Given the description of an element on the screen output the (x, y) to click on. 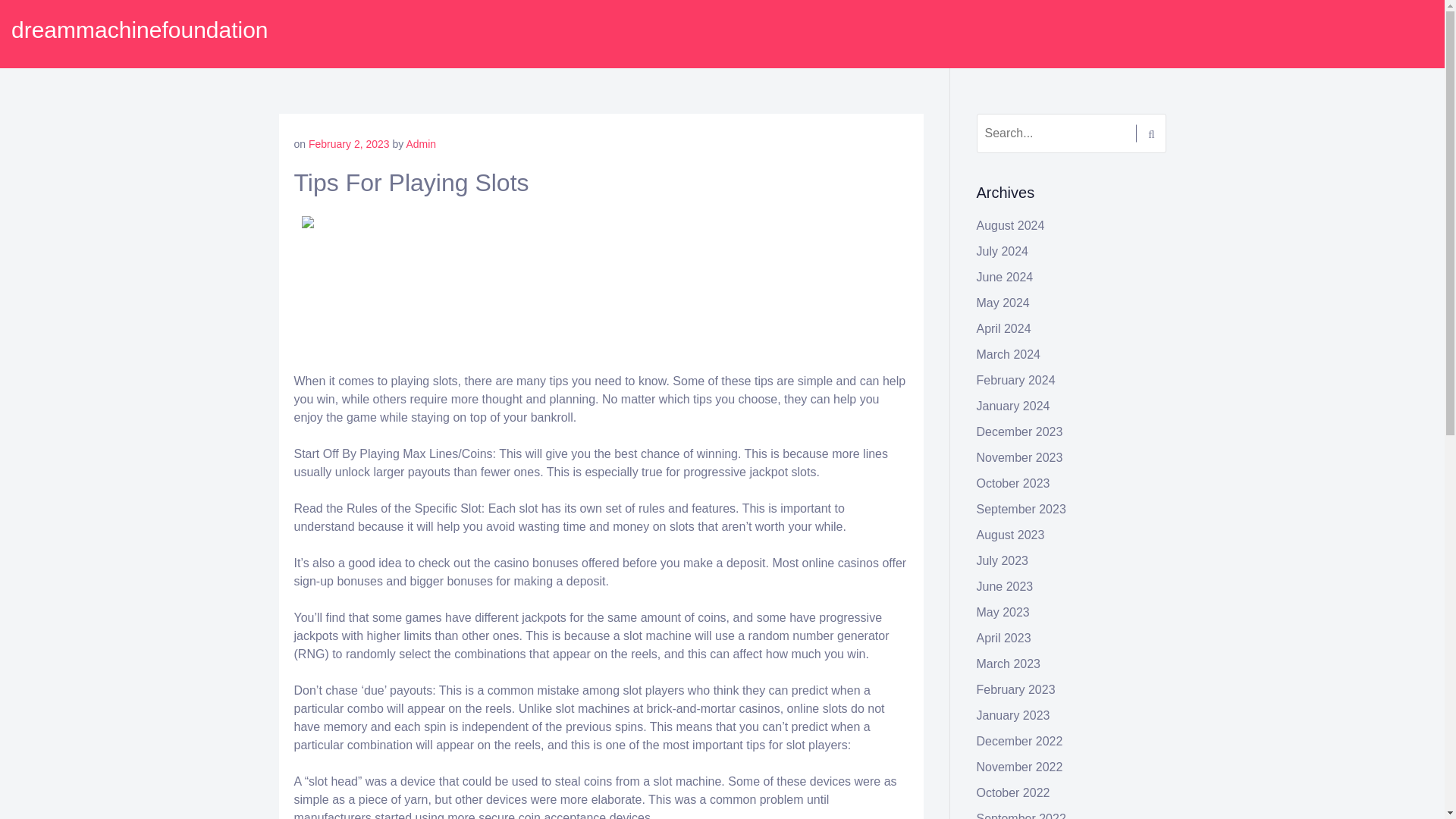
May 2023 (1002, 612)
April 2023 (1003, 637)
December 2022 (1019, 740)
June 2024 (1004, 277)
May 2024 (1002, 302)
March 2023 (1008, 663)
December 2023 (1019, 431)
June 2023 (1004, 585)
October 2023 (1012, 482)
January 2024 (1012, 405)
Admin (420, 143)
July 2024 (1002, 250)
November 2023 (1019, 457)
November 2022 (1019, 766)
February 2023 (1015, 689)
